Given the description of an element on the screen output the (x, y) to click on. 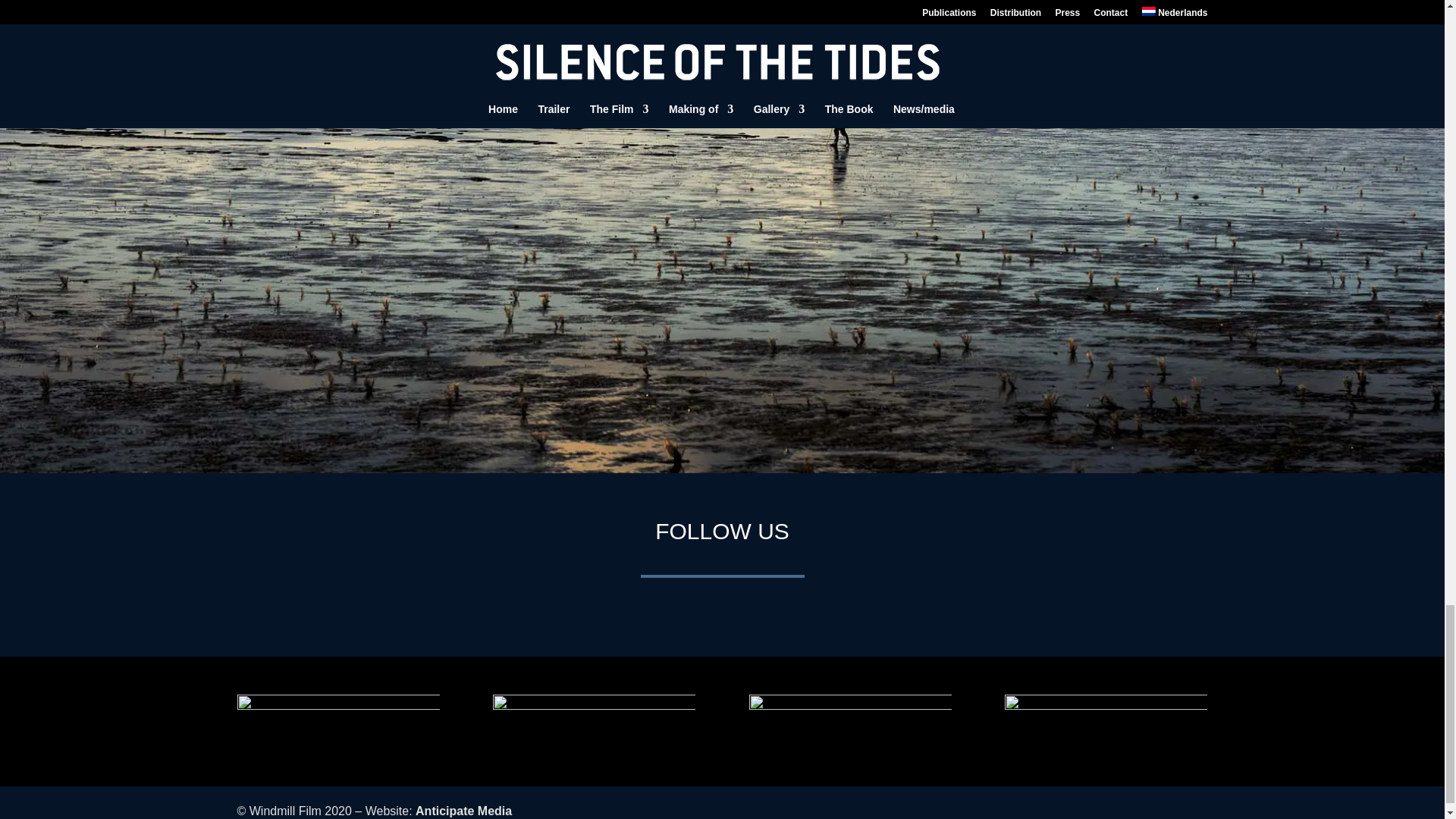
Anticipate (463, 810)
